Given the description of an element on the screen output the (x, y) to click on. 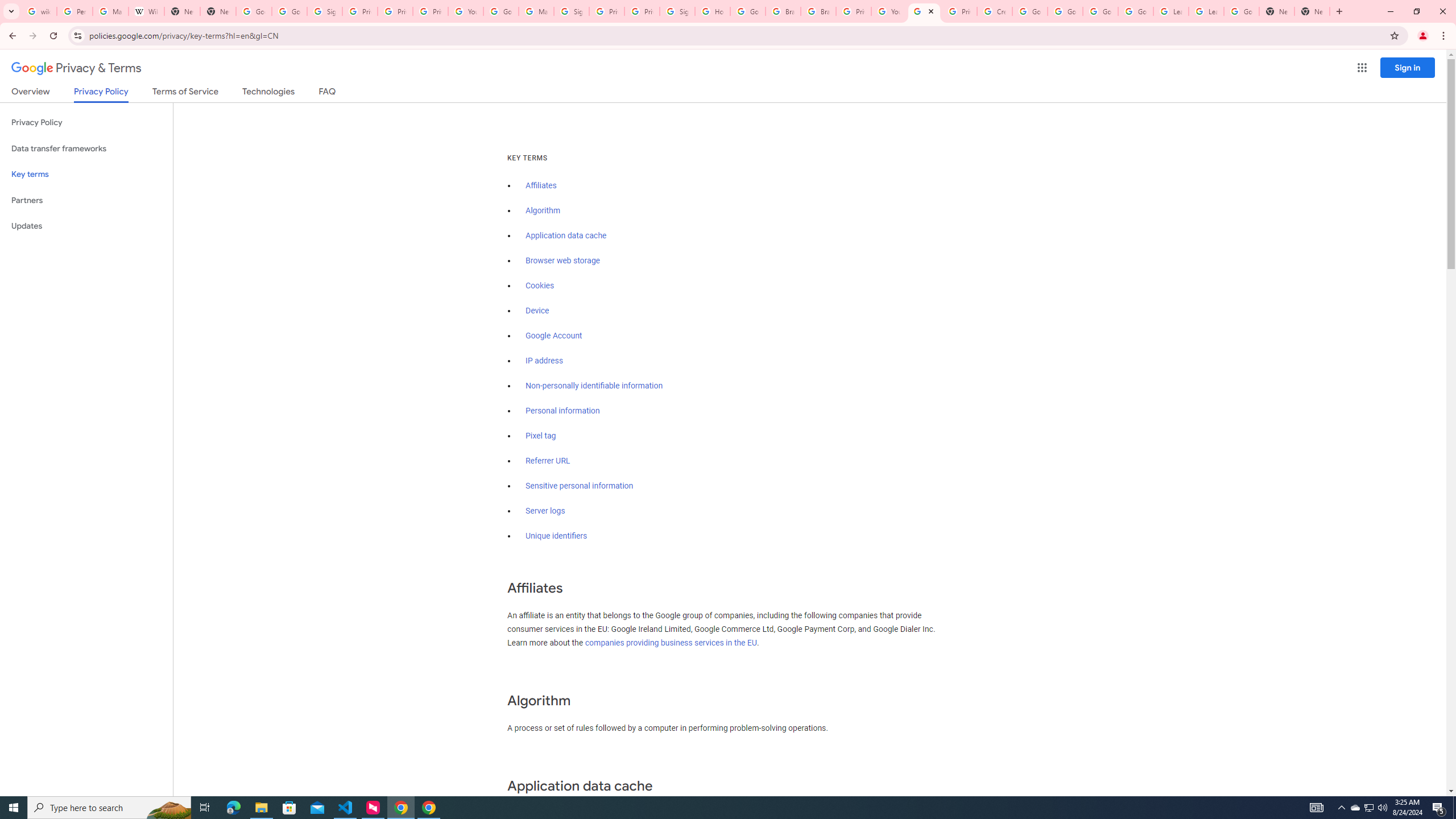
Google Account Help (1099, 11)
IP address (544, 361)
New Tab (1276, 11)
Personal information (562, 411)
Server logs (544, 511)
Non-personally identifiable information (593, 385)
YouTube (465, 11)
